Given the description of an element on the screen output the (x, y) to click on. 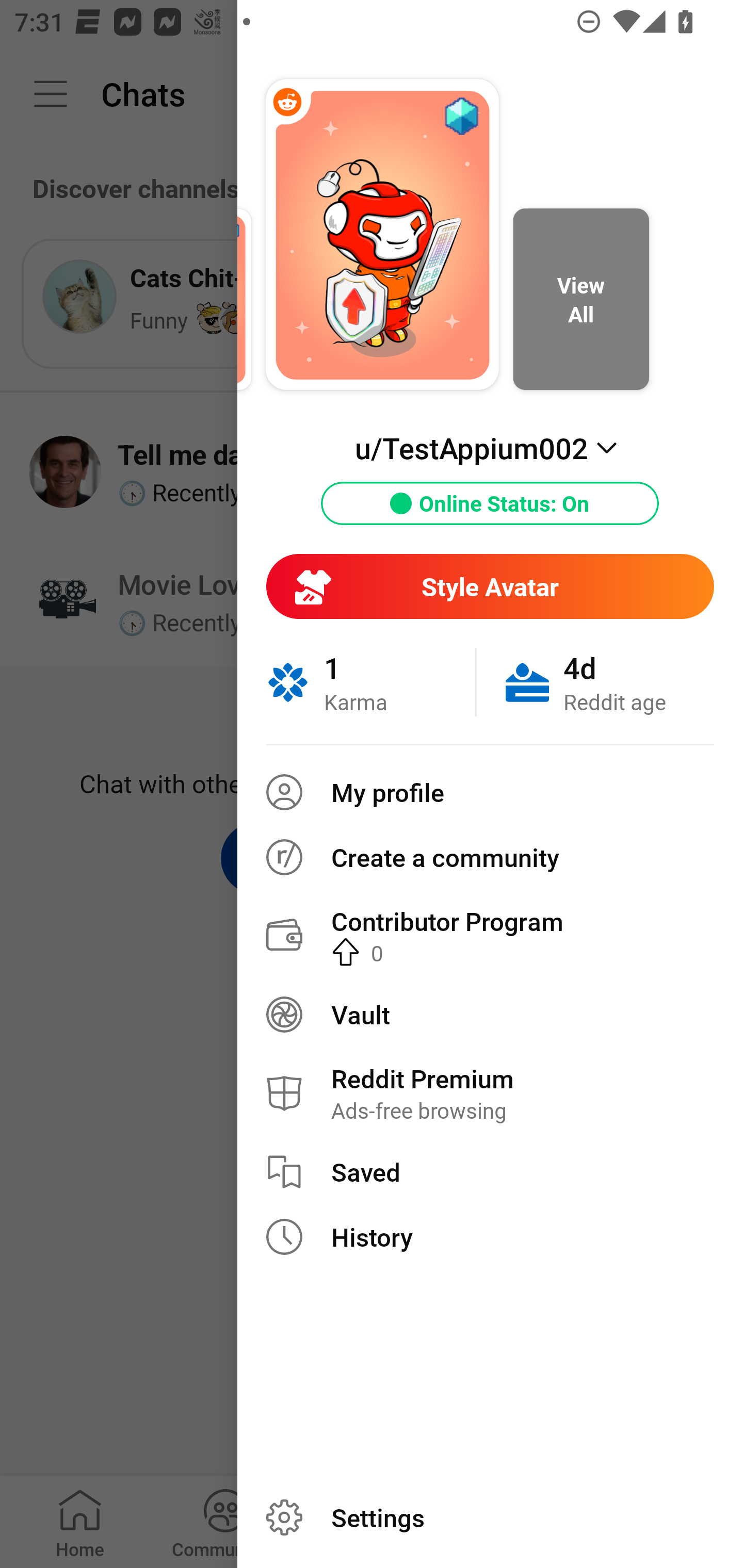
u/TestAppium002 (489, 447)
Online Status: On (489, 503)
Style Avatar (489, 586)
1 Karma 1 Karma (369, 681)
My profile (490, 792)
Create a community (490, 856)
Contributor Program Contributor Program 0 (490, 935)
Vault (490, 1014)
Saved (490, 1171)
History (490, 1237)
Settings (490, 1517)
